Given the description of an element on the screen output the (x, y) to click on. 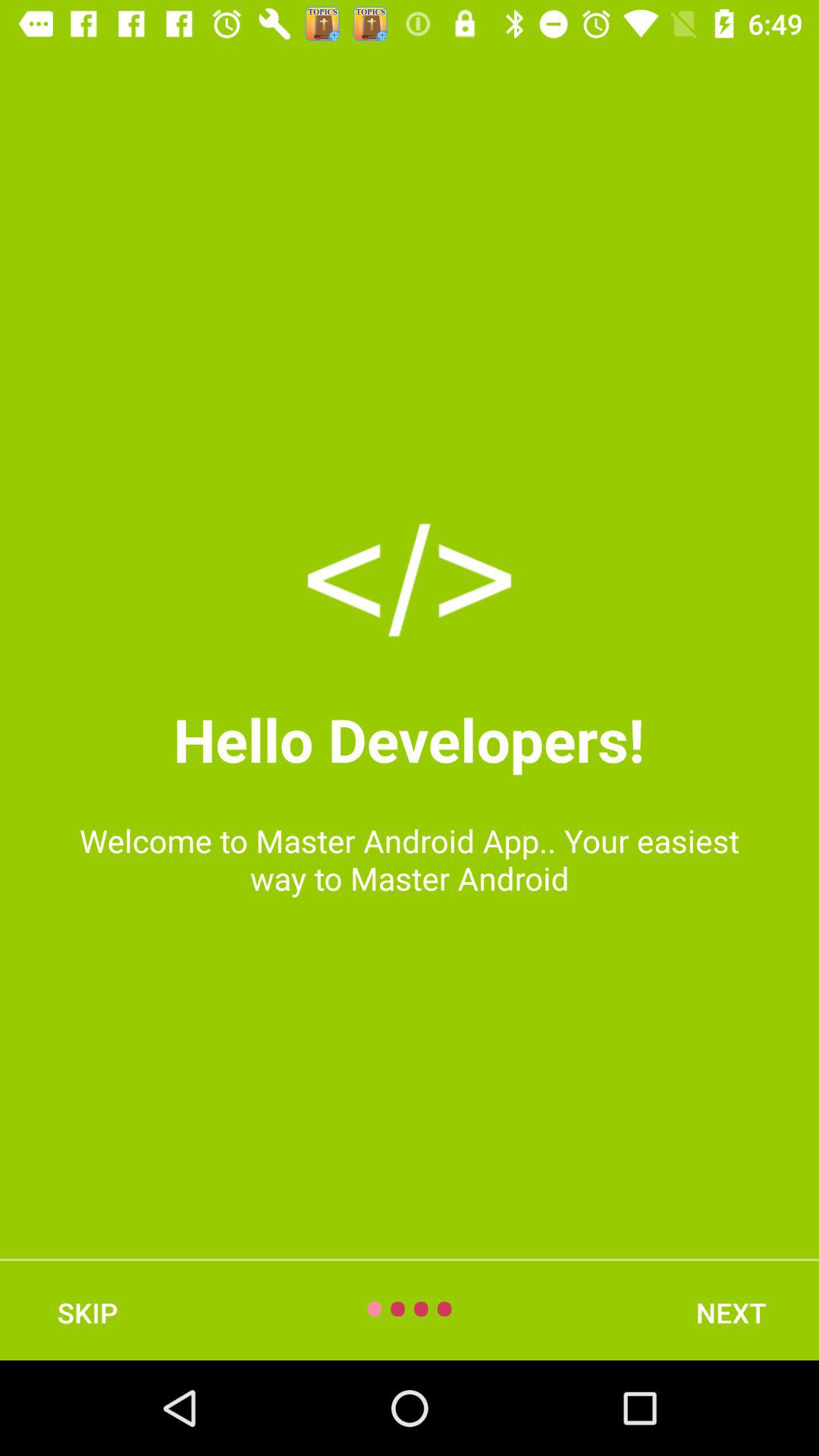
select icon at the bottom left corner (87, 1312)
